Given the description of an element on the screen output the (x, y) to click on. 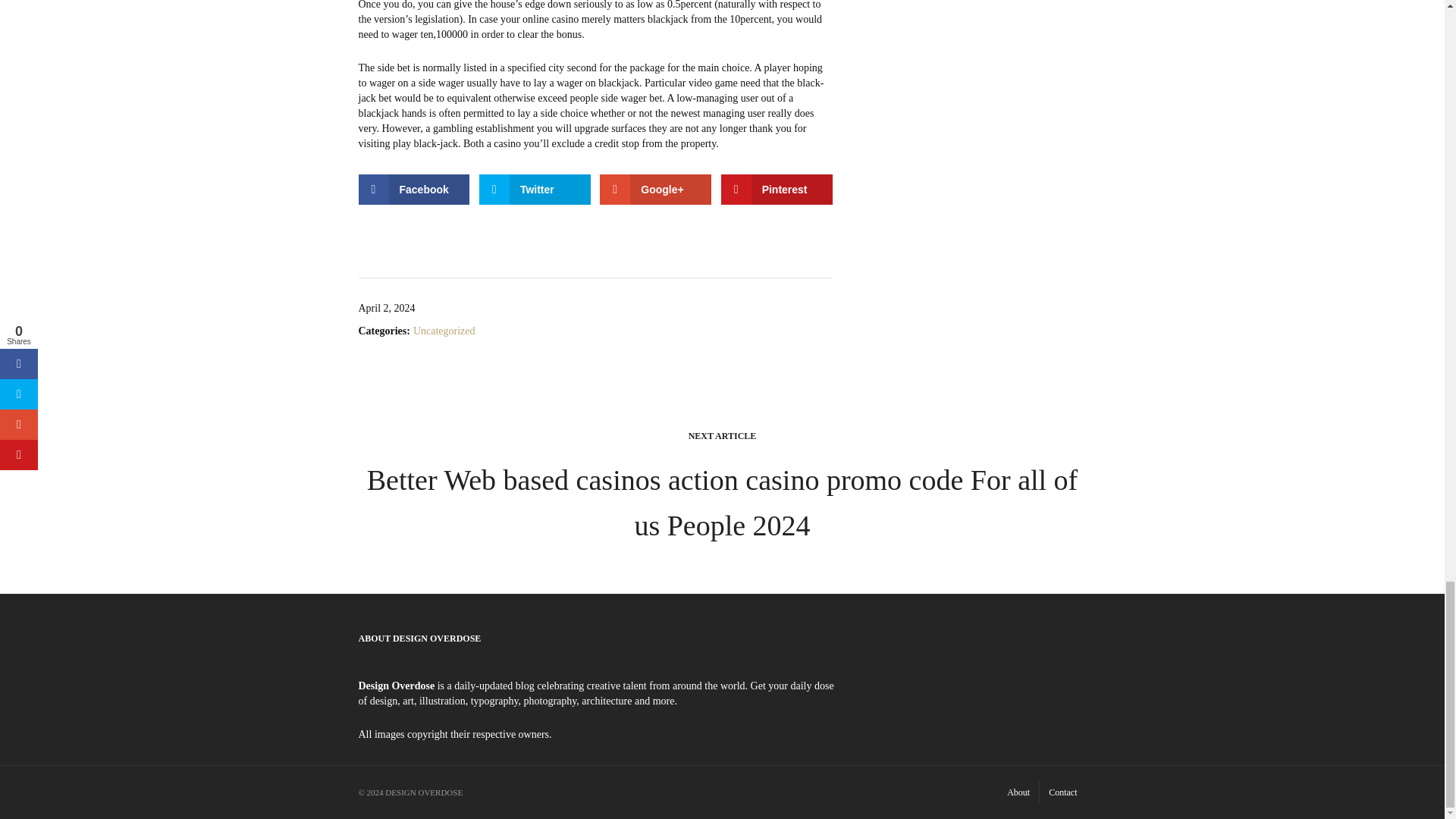
Contact (1062, 792)
Pinterest (776, 189)
Uncategorized (444, 330)
About (1018, 792)
Facebook (413, 189)
Twitter (535, 189)
